Given the description of an element on the screen output the (x, y) to click on. 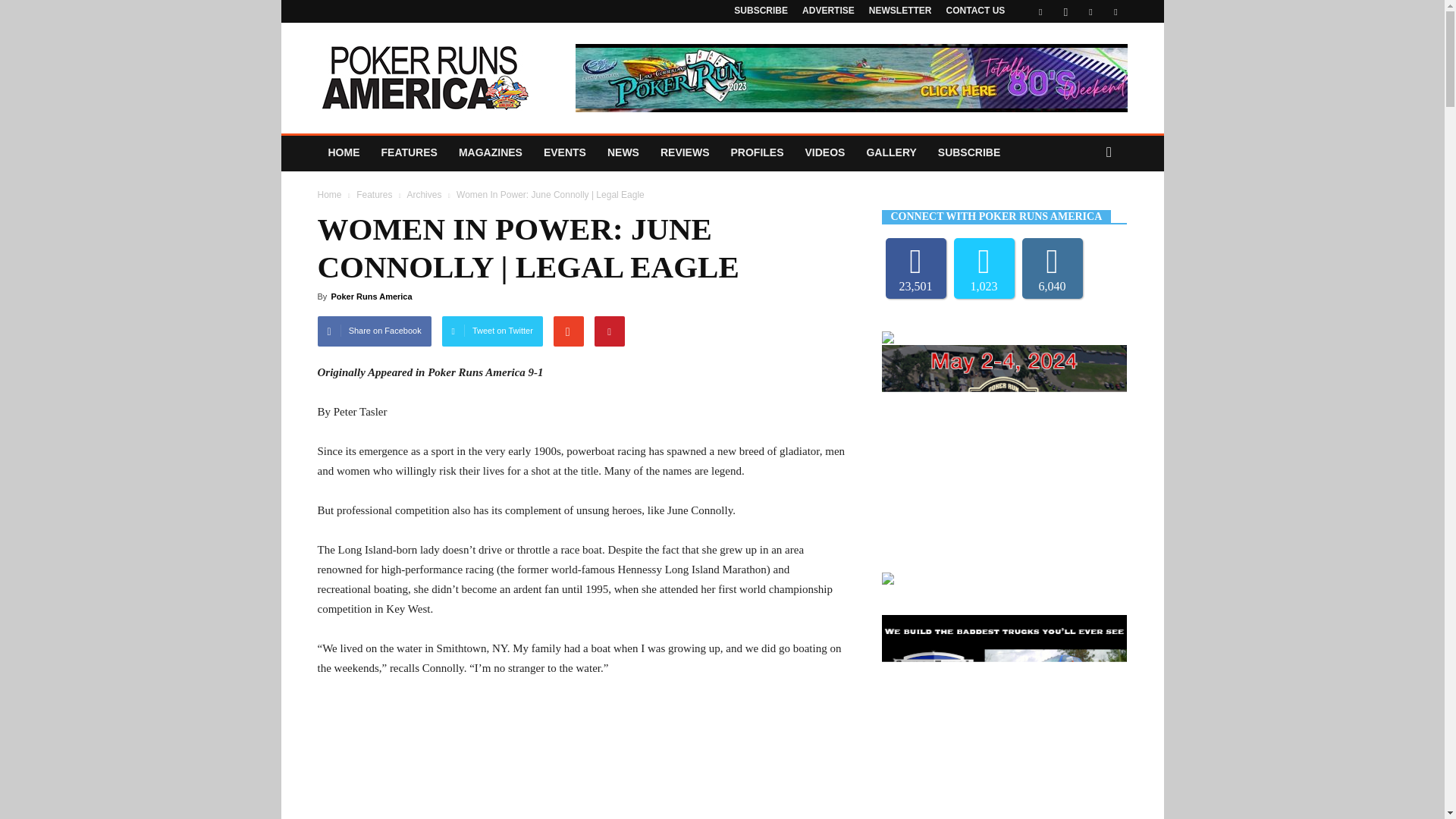
Instagram (1065, 11)
Facebook (1040, 11)
SUBSCRIBE (760, 9)
Twitter (1090, 11)
NEWSLETTER (900, 9)
Youtube (1114, 11)
ADVERTISE (828, 9)
